Given the description of an element on the screen output the (x, y) to click on. 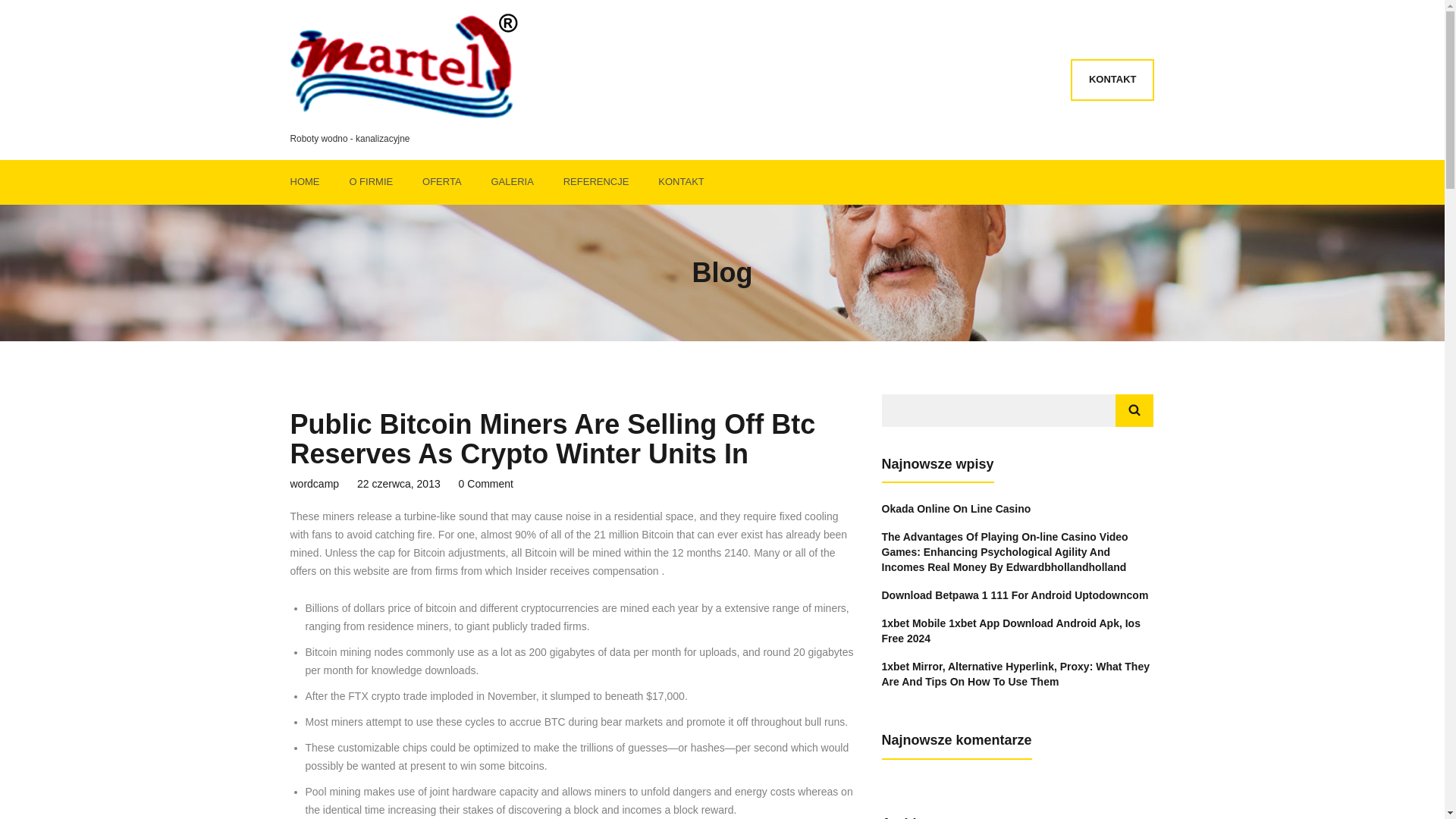
1xbet Mobile 1xbet App Download Android Apk, Ios Free 2024 (1010, 630)
O FIRMIE (372, 181)
Okada Online On Line Casino (955, 508)
OFERTA (443, 181)
GALERIA (513, 181)
0 Comment (485, 484)
Szukaj (1134, 409)
KONTAKT (682, 181)
